Given the description of an element on the screen output the (x, y) to click on. 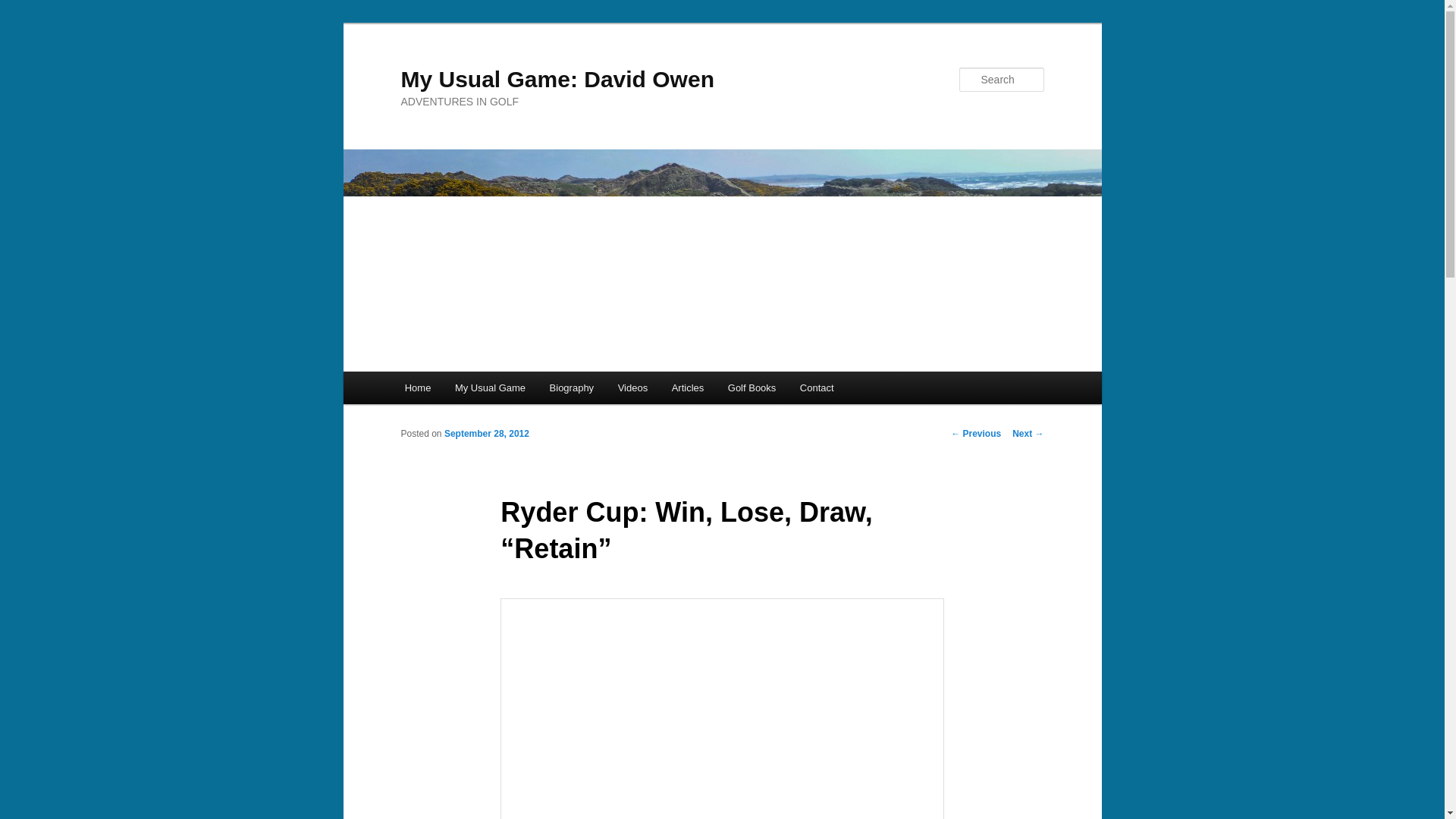
Videos (632, 387)
Golf Books (751, 387)
My Usual Game: David Owen (556, 78)
Home (417, 387)
Search (24, 8)
Contact (816, 387)
Articles (687, 387)
September 28, 2012 (486, 433)
My Usual Game (489, 387)
12:00 pm (486, 433)
trophy (721, 708)
Biography (571, 387)
